Given the description of an element on the screen output the (x, y) to click on. 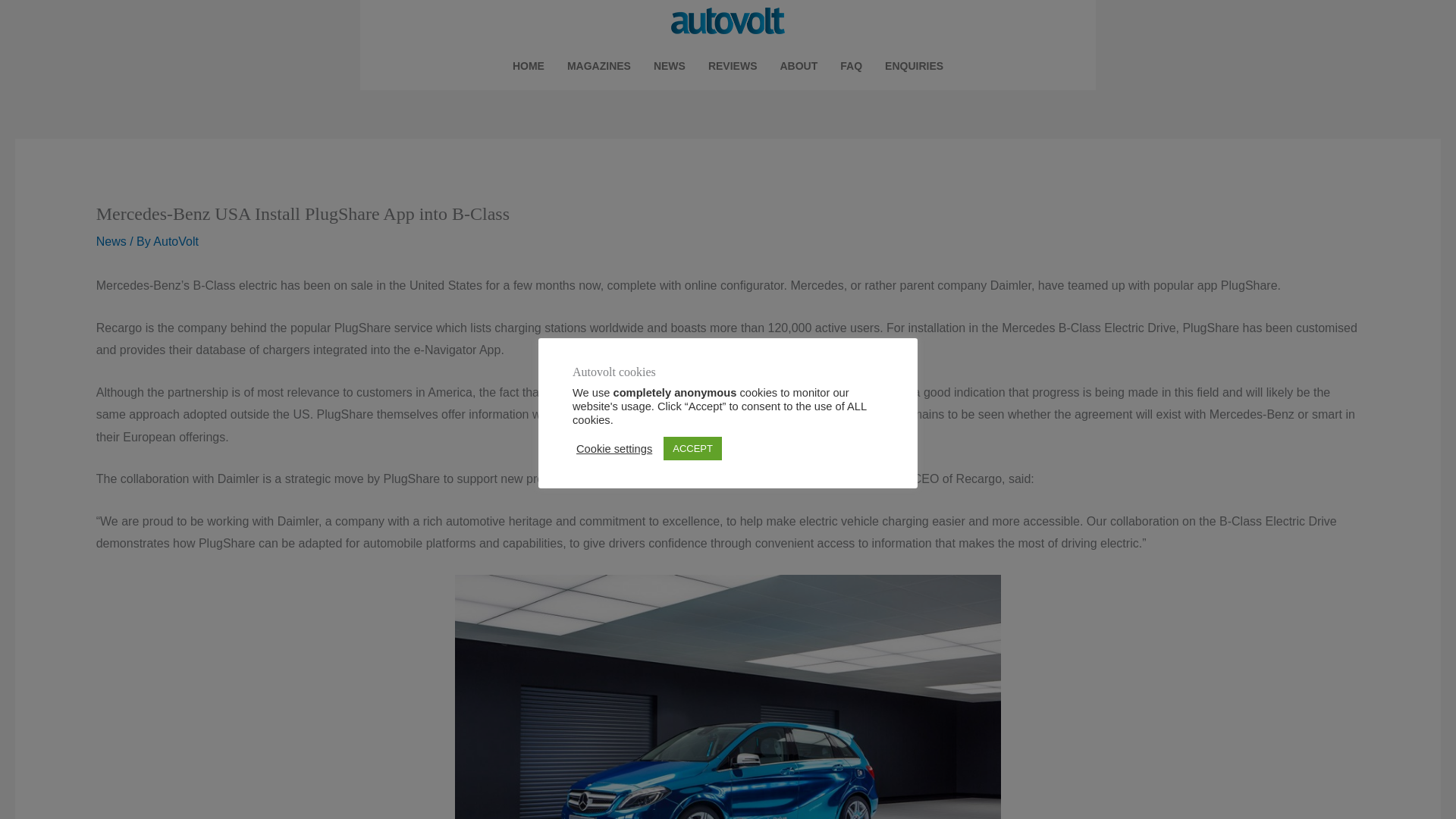
HOME (528, 65)
FAQ (850, 65)
News (111, 241)
REVIEWS (732, 65)
Frequently Asked Questions (850, 65)
View all posts by AutoVolt (175, 241)
NEWS (669, 65)
Home of Autovolt, the electric and hybrid vehicle magazine (528, 65)
ENQUIRIES (914, 65)
AutoVolt (175, 241)
